Given the description of an element on the screen output the (x, y) to click on. 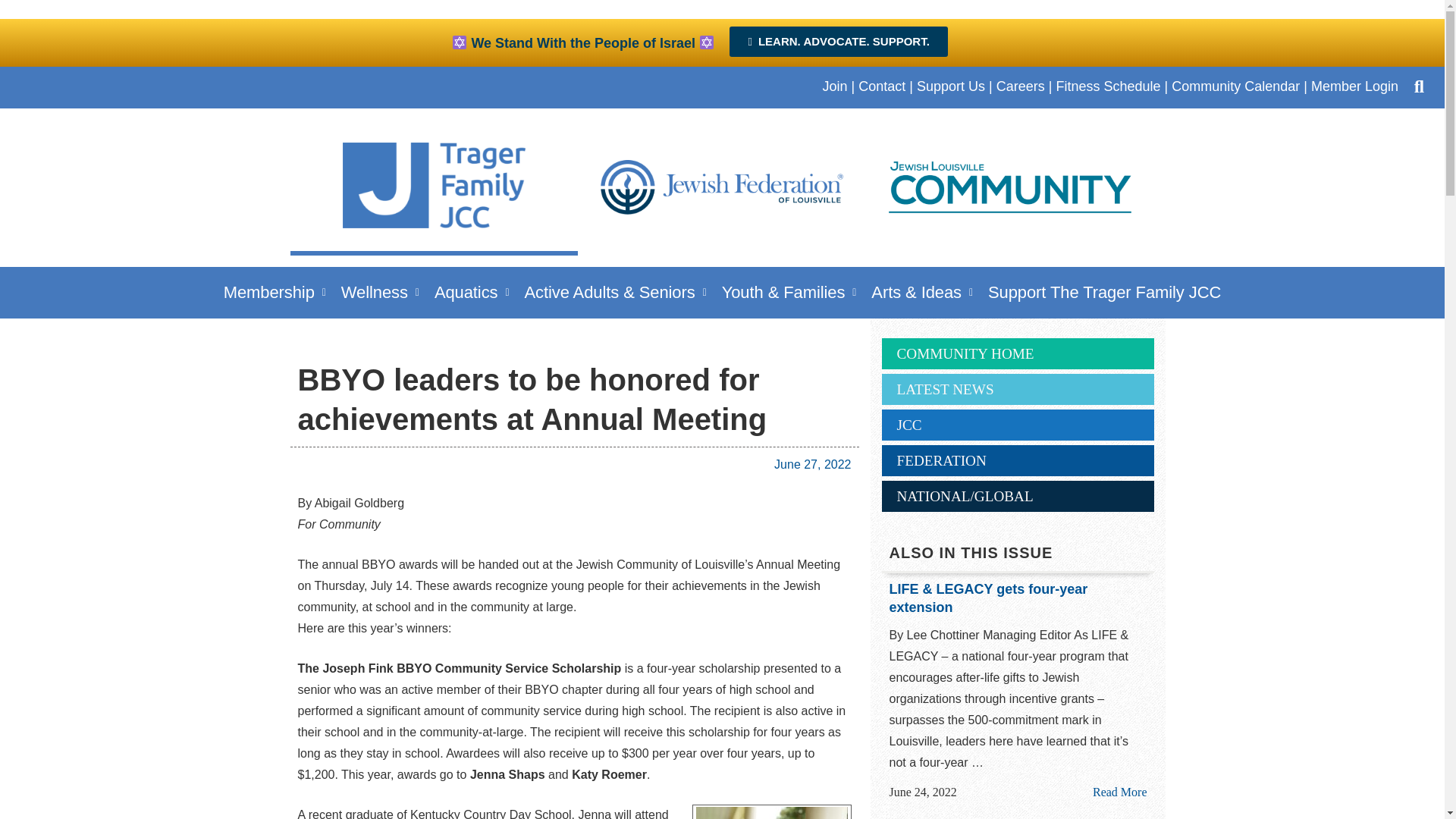
Support Us (951, 86)
Fitness Schedule (1107, 86)
Membership (274, 292)
Community Calendar (1236, 86)
10:45 am (812, 464)
Careers (1020, 86)
Join (834, 86)
Wellness (379, 292)
Member Login (1354, 86)
Contact (882, 86)
LEARN. ADVOCATE. SUPPORT. (838, 41)
Aquatics (471, 292)
9:53 am (922, 791)
